Given the description of an element on the screen output the (x, y) to click on. 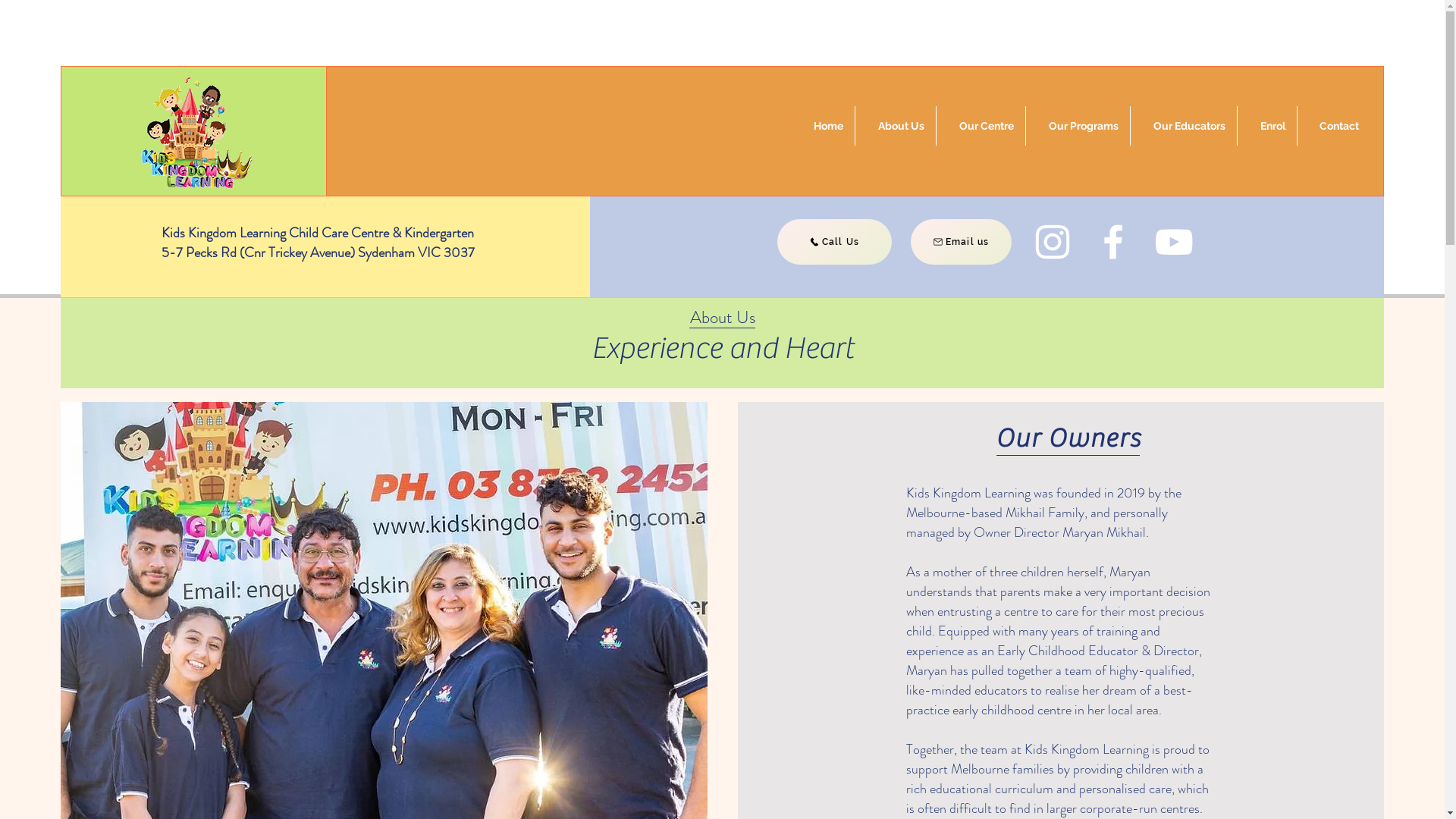
Our Centre Element type: text (980, 125)
Email us Element type: text (960, 241)
Call Us Element type: text (833, 241)
Home Element type: text (822, 125)
Enrol Element type: text (1266, 125)
Contact Element type: text (1333, 125)
Our Educators Element type: text (1183, 125)
Our Programs Element type: text (1077, 125)
About Us Element type: text (895, 125)
